Given the description of an element on the screen output the (x, y) to click on. 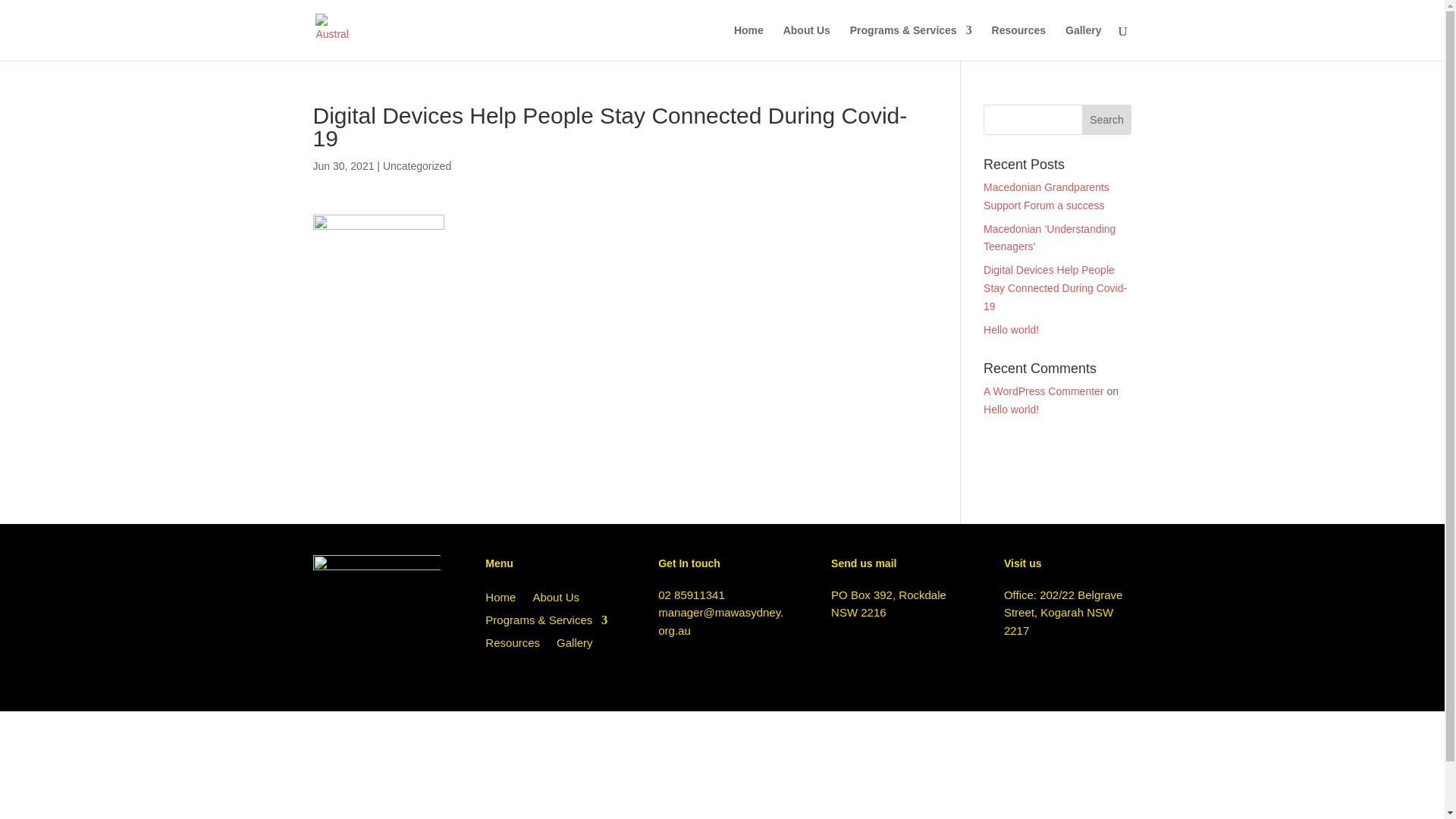
Gallery Element type: text (1083, 42)
Home Element type: text (500, 600)
Uncategorized Element type: text (416, 166)
Macedonian Grandparents Support Forum a success Element type: text (1046, 196)
Hello world! Element type: text (1010, 329)
Resources Element type: text (512, 645)
Digital Devices Help People Stay Connected During Covid-19 Element type: text (1054, 287)
Search Element type: text (1107, 119)
About Us Element type: text (555, 600)
A WordPress Commenter Element type: text (1043, 391)
Hello world! Element type: text (1010, 409)
Resources Element type: text (1018, 42)
About Us Element type: text (806, 42)
Gallery Element type: text (574, 645)
Programs & Services Element type: text (911, 42)
Programs & Services Element type: text (546, 623)
Home Element type: text (748, 42)
Australian Macedonian Welfare & Wellbeing logo Element type: hover (375, 618)
